Given the description of an element on the screen output the (x, y) to click on. 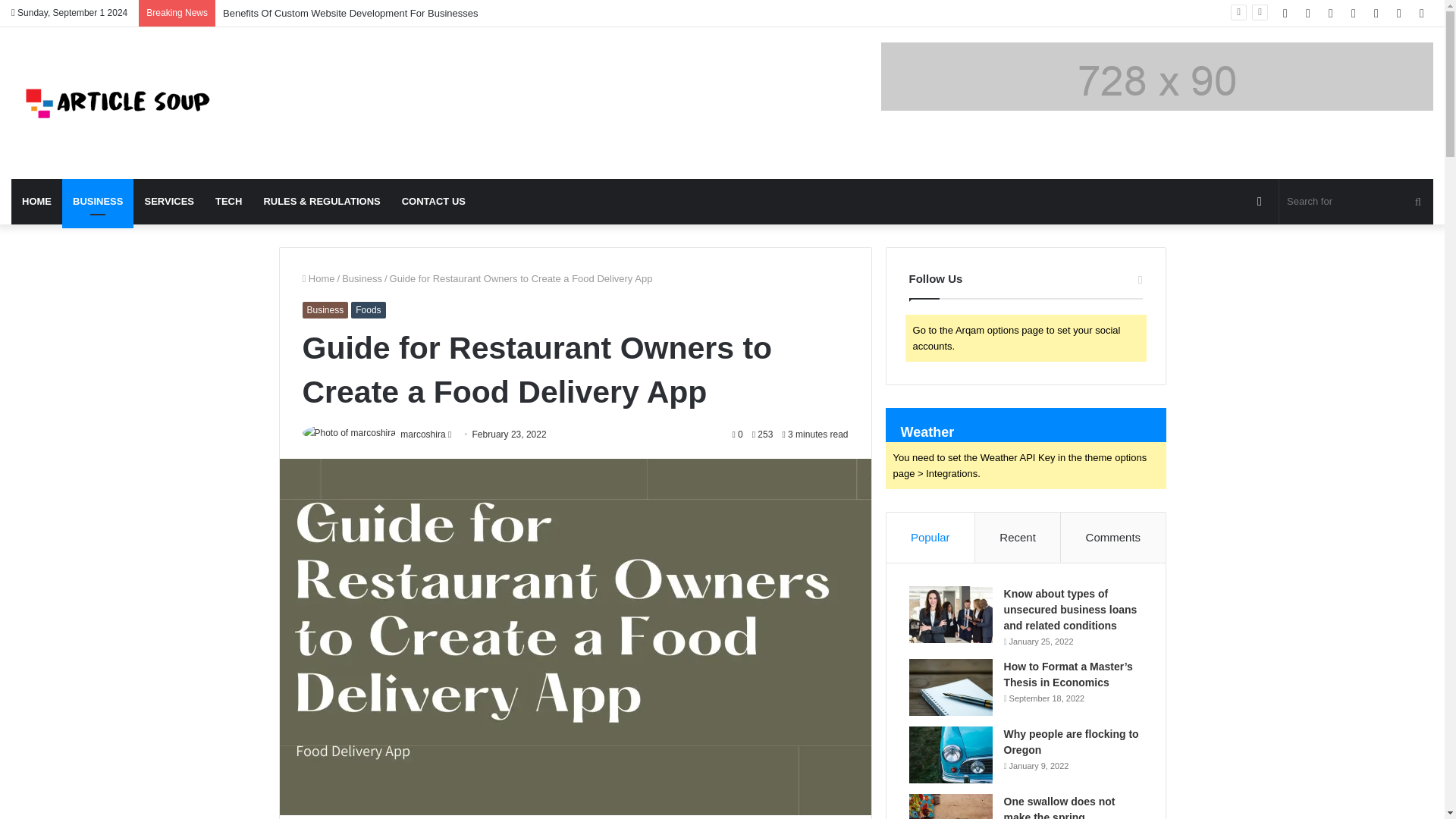
BUSINESS (97, 201)
Article Soup (117, 102)
Home (317, 278)
Business (361, 278)
Foods (367, 310)
CONTACT US (433, 201)
HOME (36, 201)
Business (324, 310)
TECH (228, 201)
Benefits Of Custom Website Development For Businesses (349, 12)
